Given the description of an element on the screen output the (x, y) to click on. 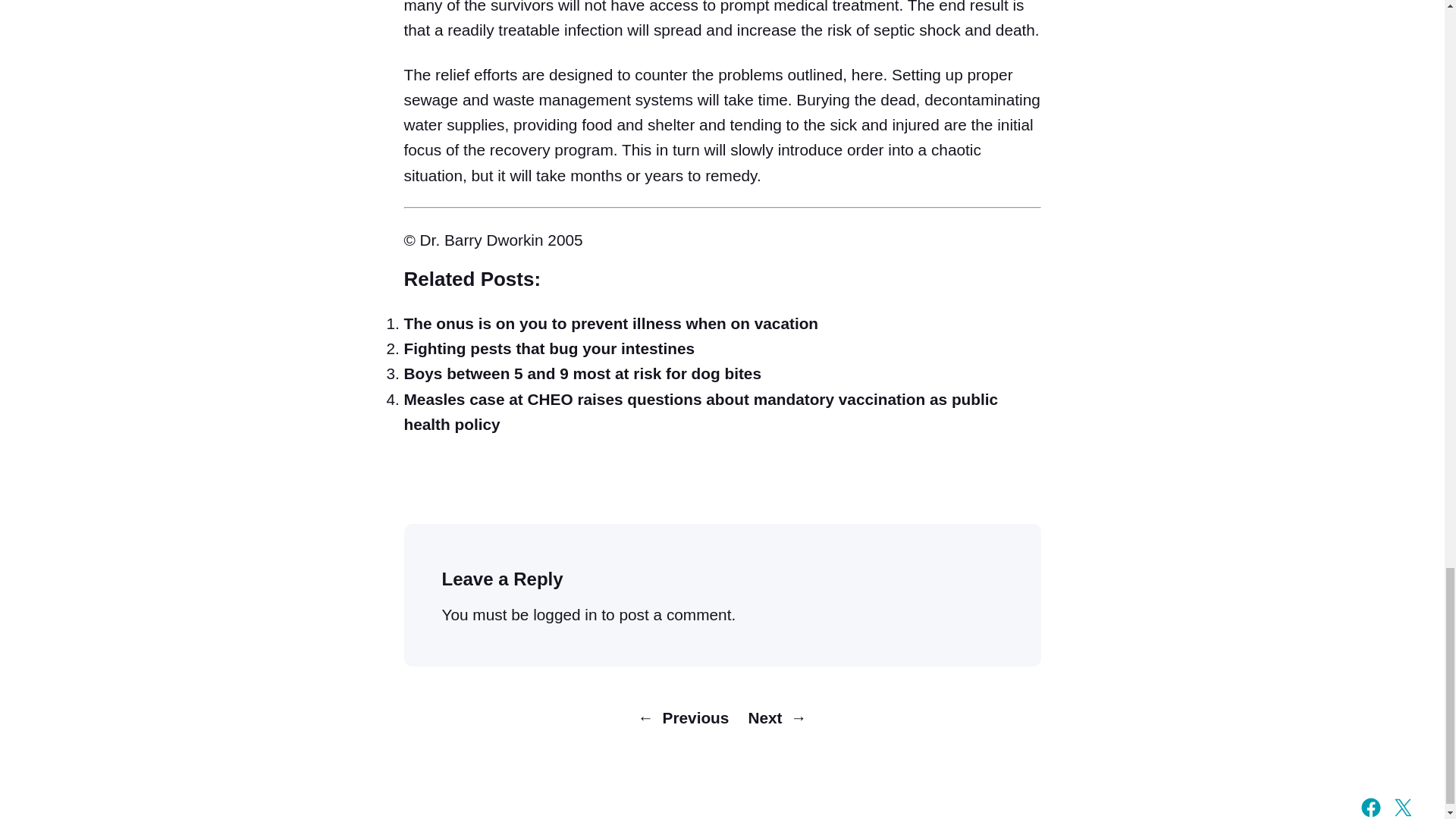
Fighting pests that bug your intestines (548, 348)
The onus is on you to prevent illness when on vacation (610, 323)
Fighting pests that bug your intestines (548, 348)
Boys between 5 and 9 most at risk for dog bites (582, 373)
Next (764, 717)
Previous (695, 717)
Boys between 5 and 9 most at risk for dog bites (582, 373)
The onus is on you to prevent illness when on vacation (610, 323)
logged in (564, 614)
